Given the description of an element on the screen output the (x, y) to click on. 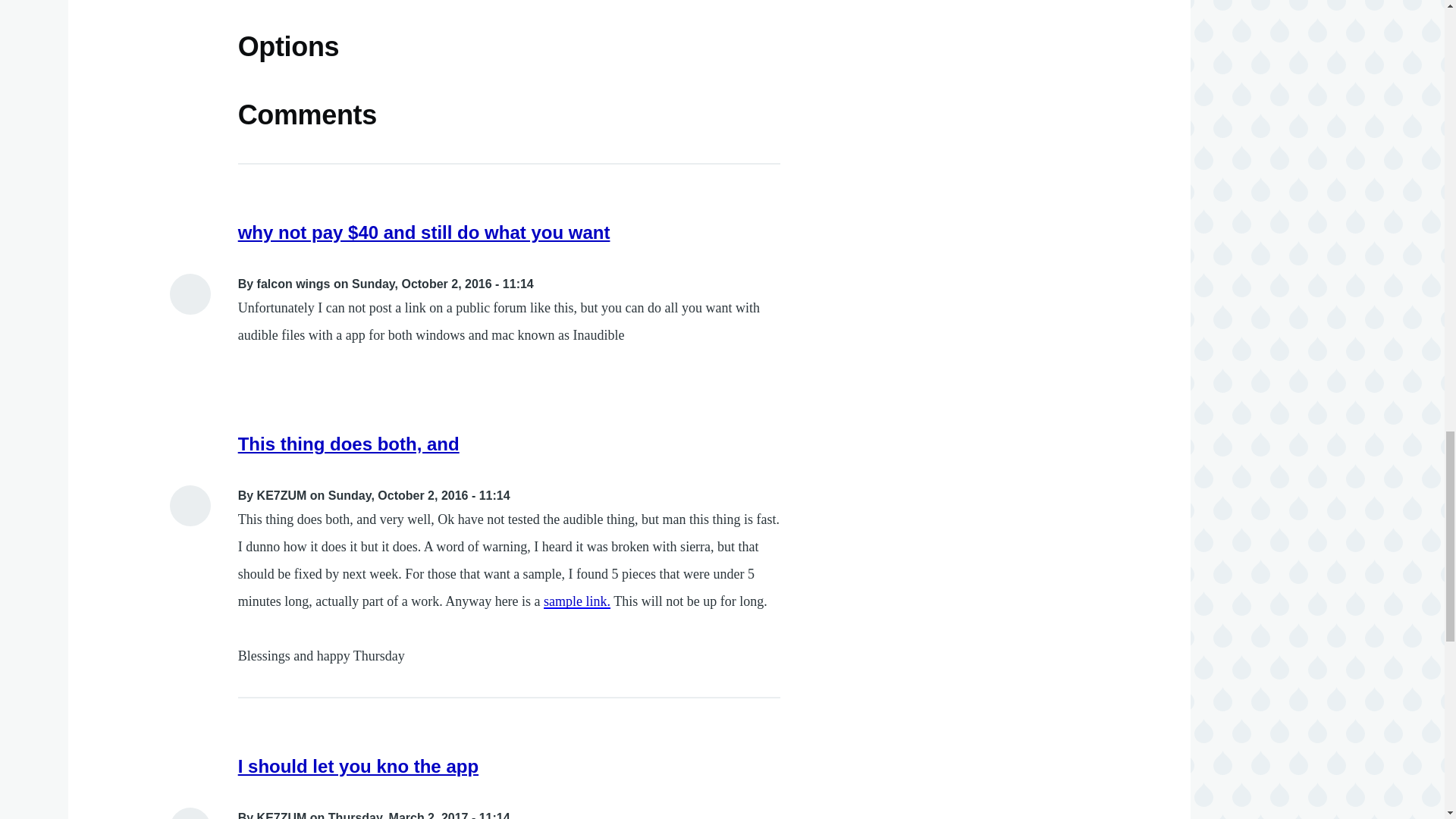
sample link. (576, 601)
I should let you kno the app (358, 765)
This thing does both, and (349, 444)
